Given the description of an element on the screen output the (x, y) to click on. 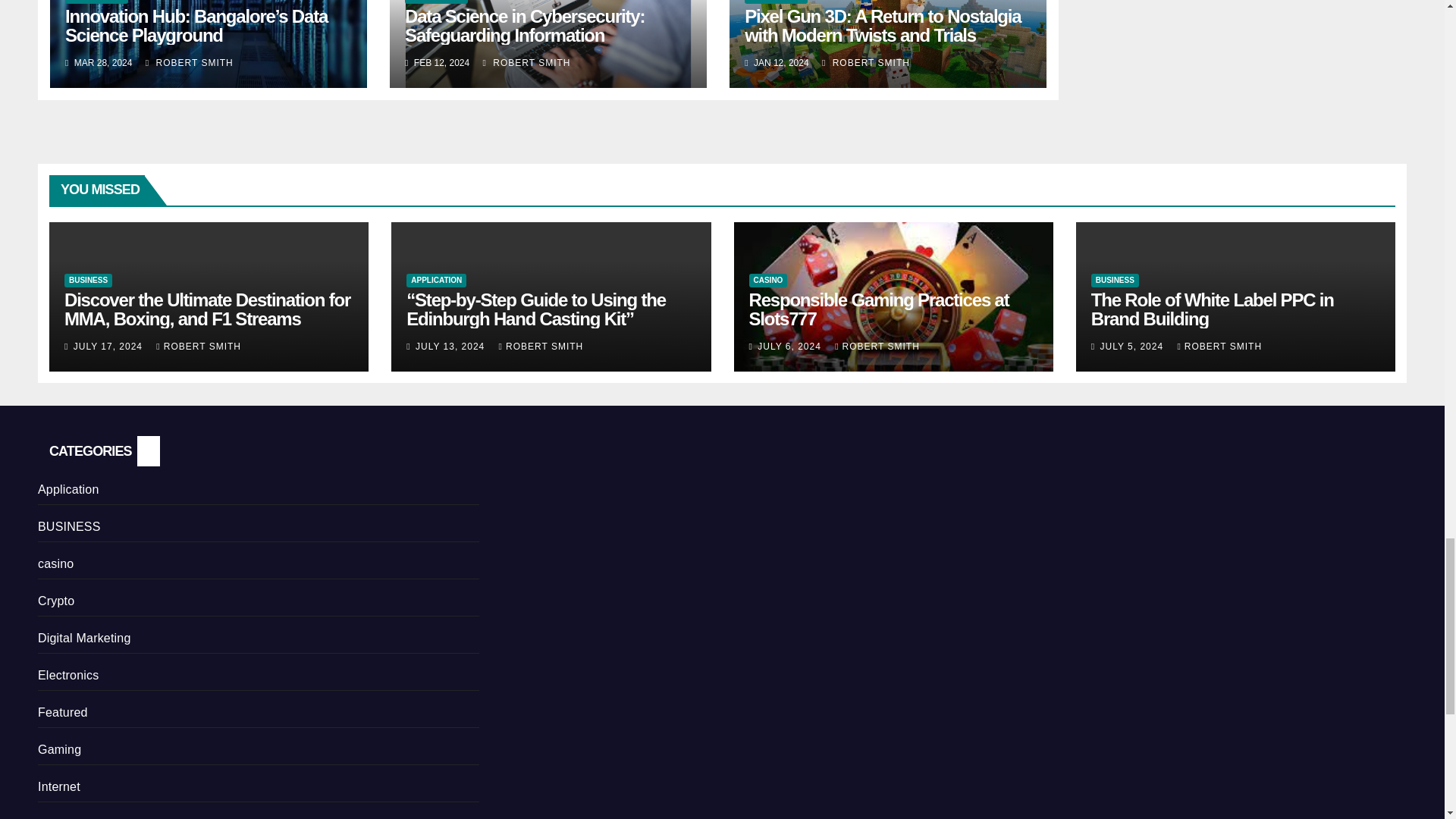
TECHNOLOGY (776, 2)
TECHNOLOGY (96, 2)
TECHNOLOGY (435, 2)
ROBERT SMITH (866, 62)
Permalink to: Responsible Gaming Practices at Slots777 (879, 309)
ROBERT SMITH (188, 62)
Data Science in Cybersecurity: Safeguarding Information (524, 25)
Permalink to: The Role of White Label PPC in Brand Building (1211, 309)
ROBERT SMITH (526, 62)
